Given the description of an element on the screen output the (x, y) to click on. 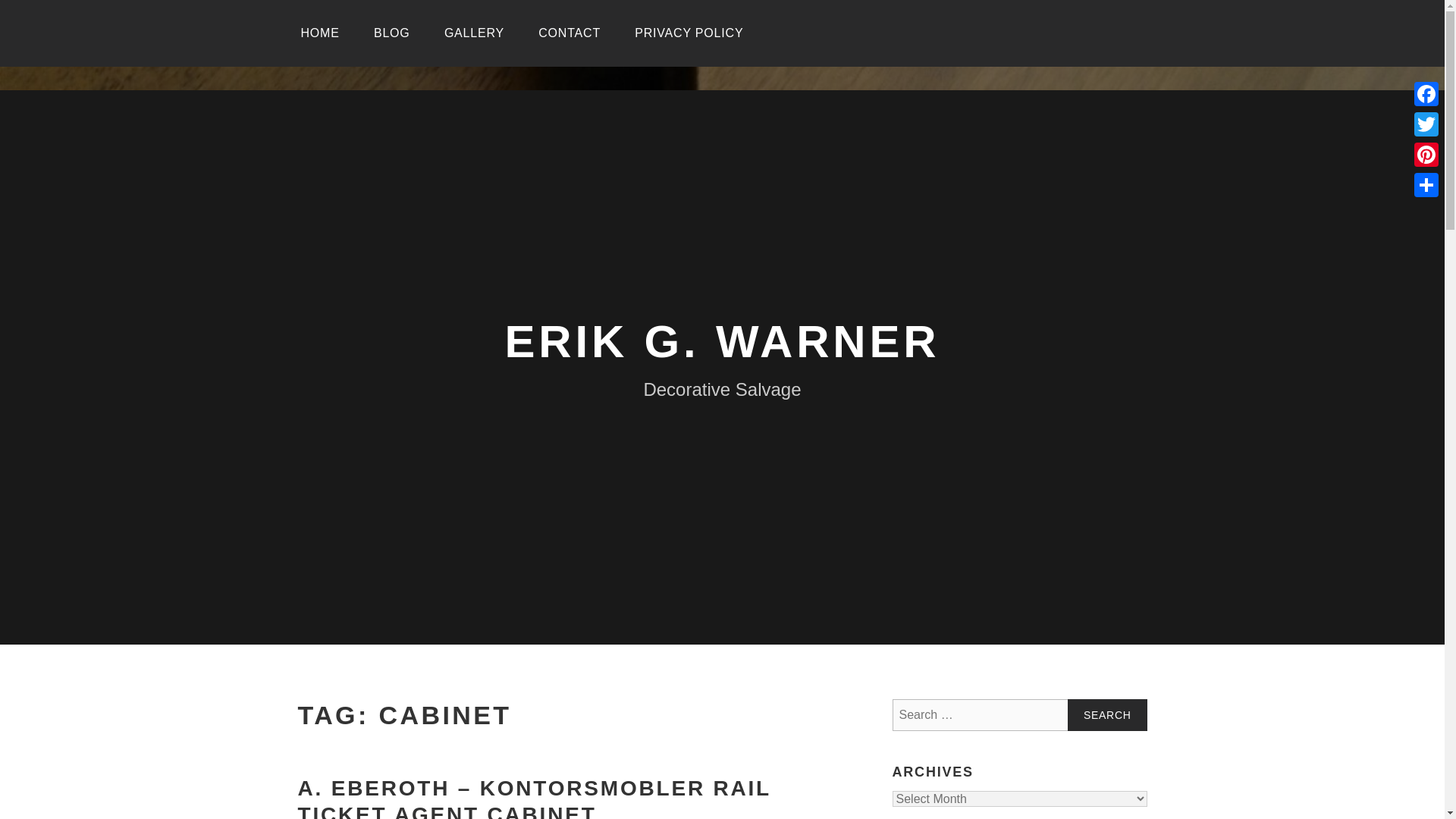
Twitter (1425, 123)
Search (1107, 715)
Twitter (1425, 123)
Facebook (1425, 93)
Facebook (1425, 93)
HOME (319, 33)
Search (1107, 715)
Search (1107, 715)
BLOG (391, 33)
GALLERY (474, 33)
